Given the description of an element on the screen output the (x, y) to click on. 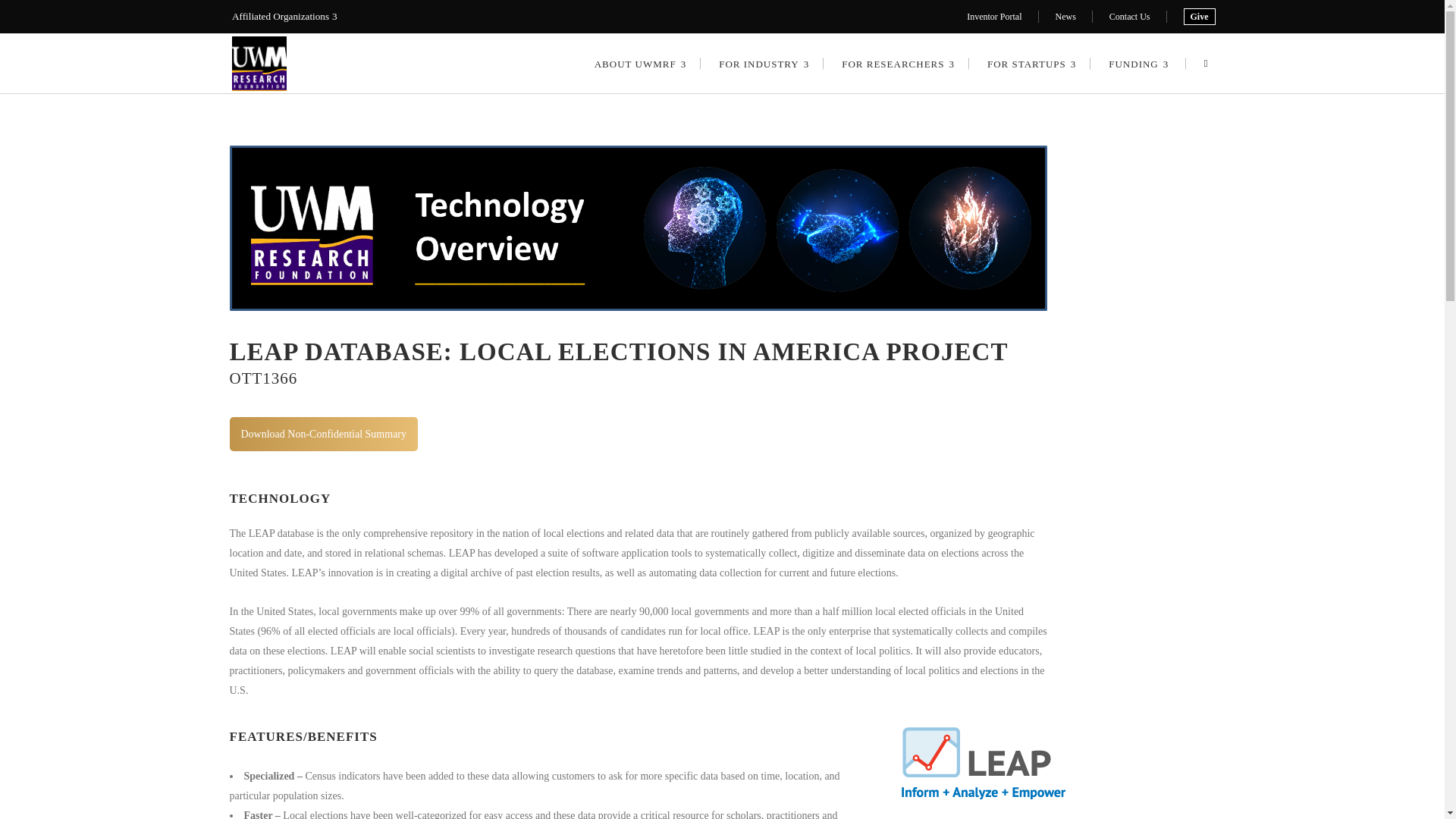
Inventor Portal (994, 16)
leap (983, 763)
Affiliated Organizations (290, 16)
Give (1198, 16)
FOR INDUSTRY (762, 63)
FOR STARTUPS (1029, 63)
ABOUT UWMRF (638, 63)
Contact Us (1129, 16)
News (1065, 16)
